Given the description of an element on the screen output the (x, y) to click on. 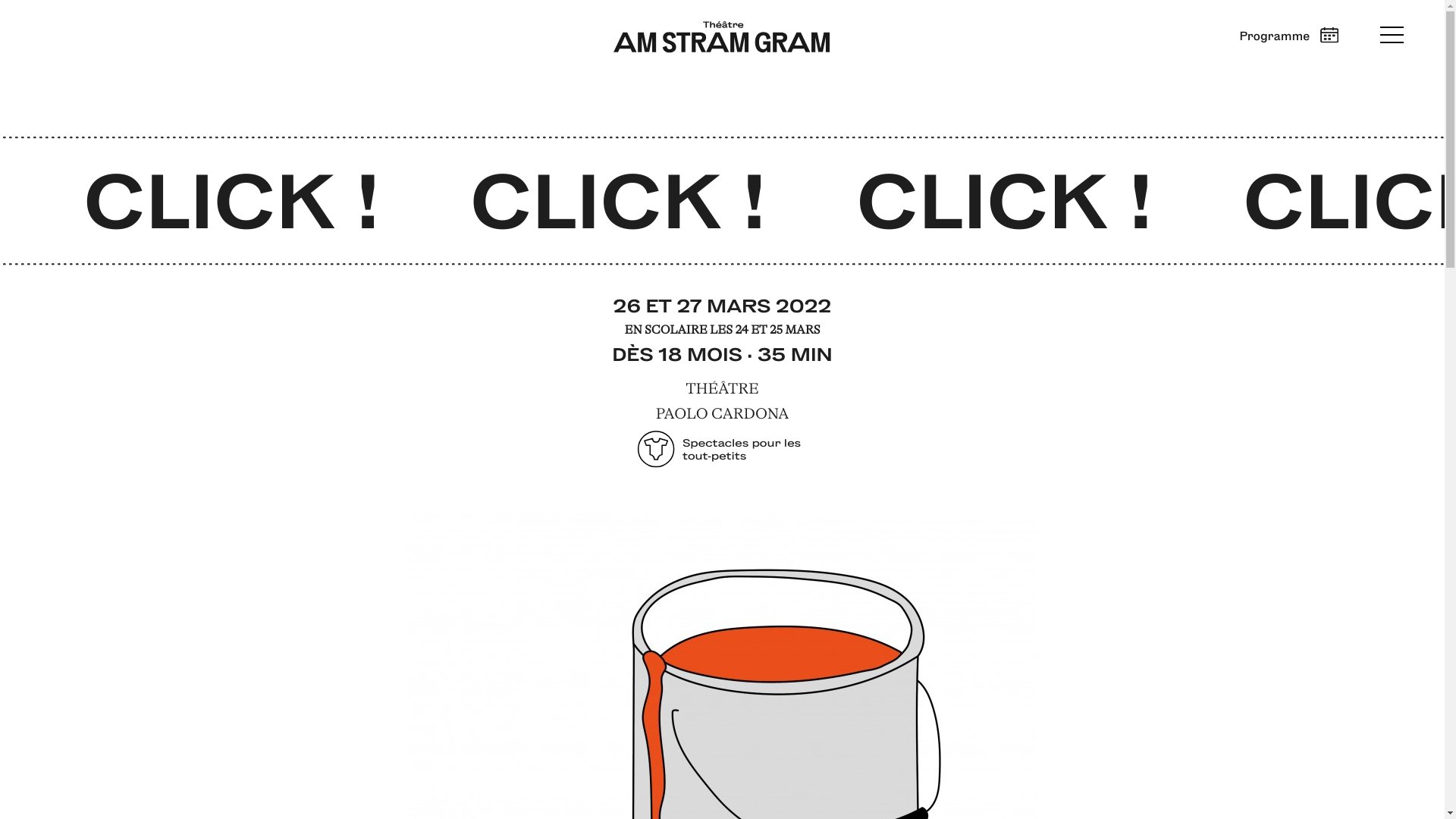
Programme Element type: text (1288, 34)
